Given the description of an element on the screen output the (x, y) to click on. 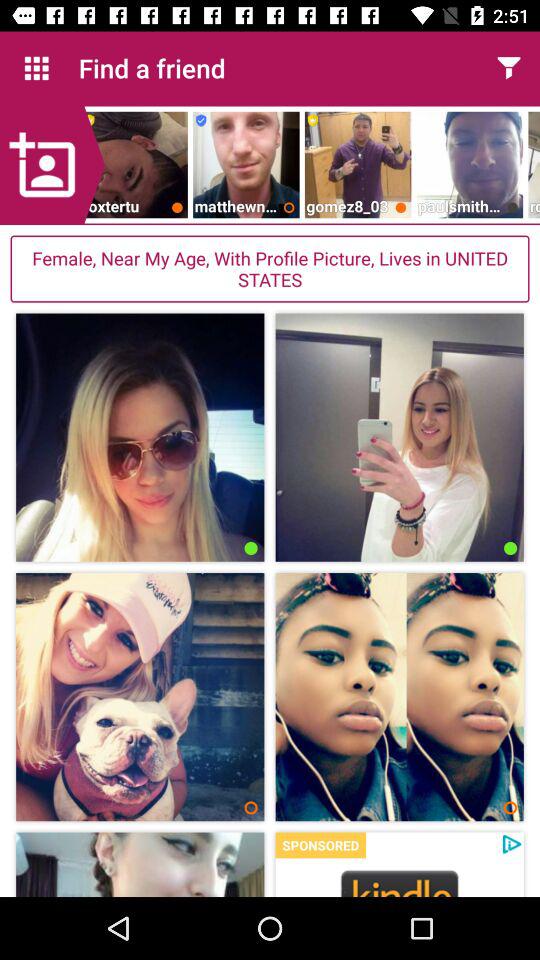
flip to sponsored item (320, 845)
